Given the description of an element on the screen output the (x, y) to click on. 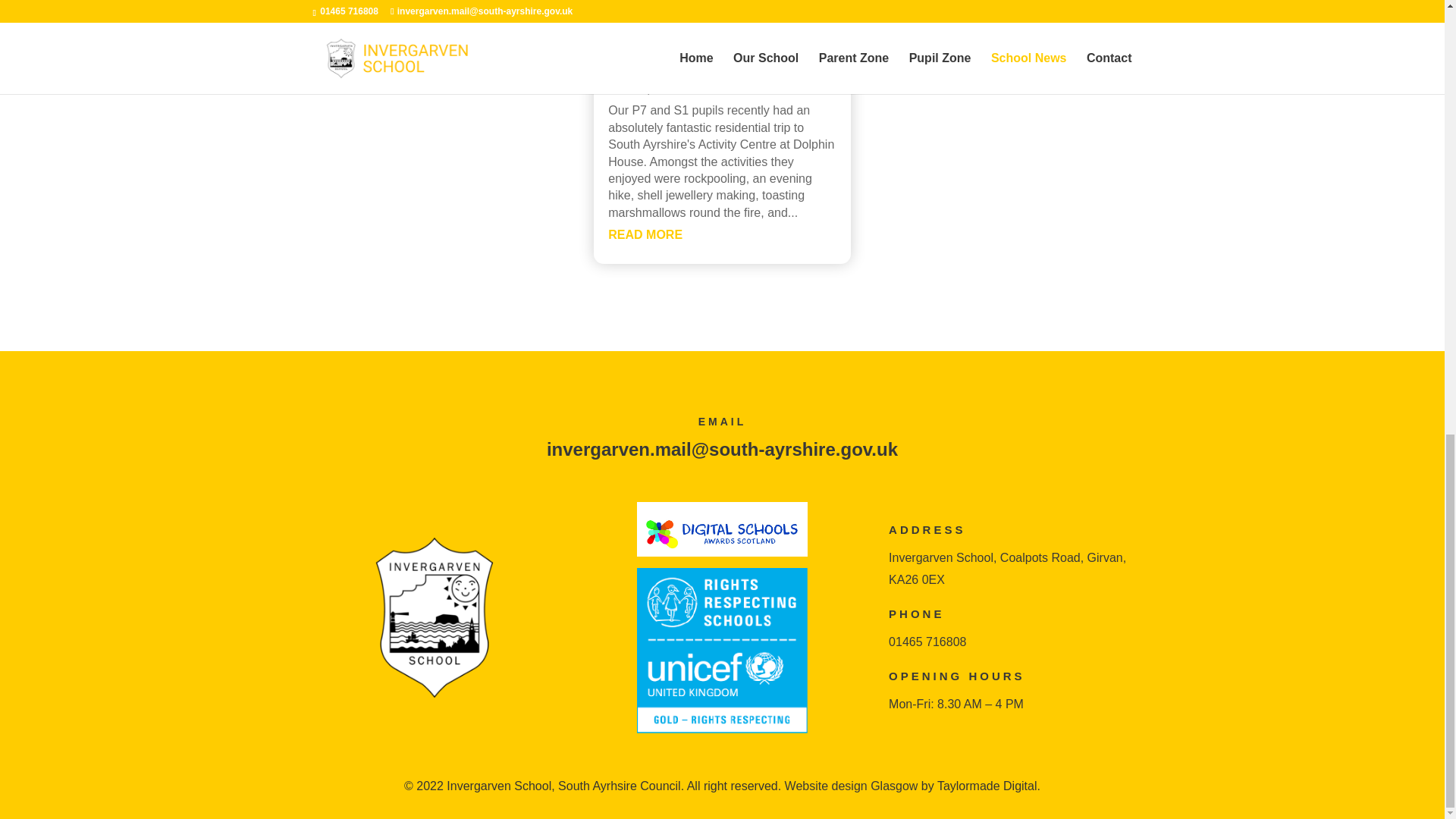
READ MORE (645, 234)
School Residential Trip to Dolphin House (710, 56)
Website design Glasgow (851, 785)
cropped-square-new-logo (434, 616)
Gold-logo (721, 650)
01465 716808 (927, 641)
DSA-Logos-Scotland-003 (721, 529)
